Given the description of an element on the screen output the (x, y) to click on. 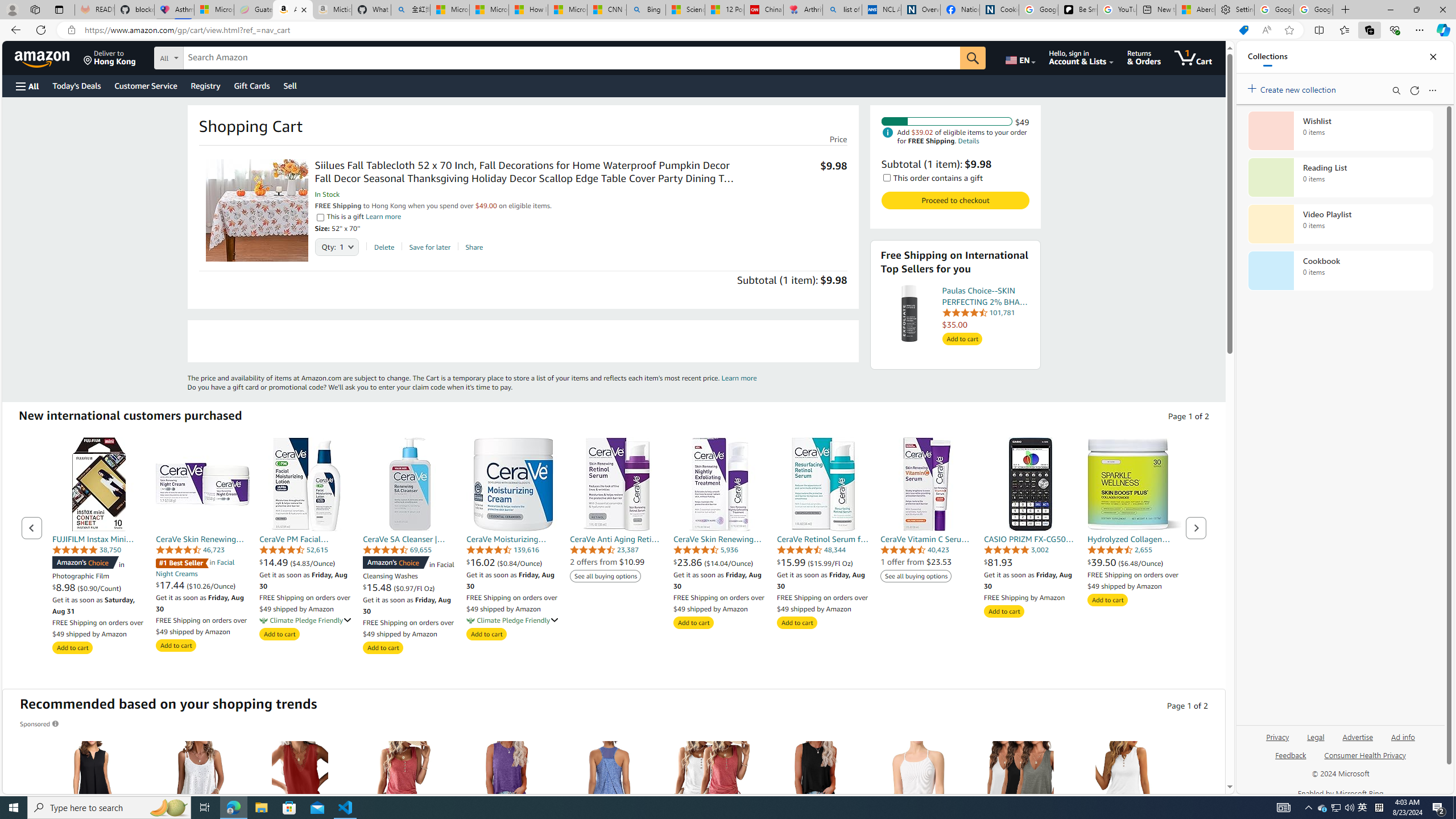
Search in (210, 58)
Hello, sign in Account & Lists (1081, 57)
($15.99/Fl Oz) (830, 562)
NCL Adult Asthma Inhaler Choice Guideline (881, 9)
CASIO PRIZM FX-CG50 Color Graphing Calculator (1030, 484)
